Given the description of an element on the screen output the (x, y) to click on. 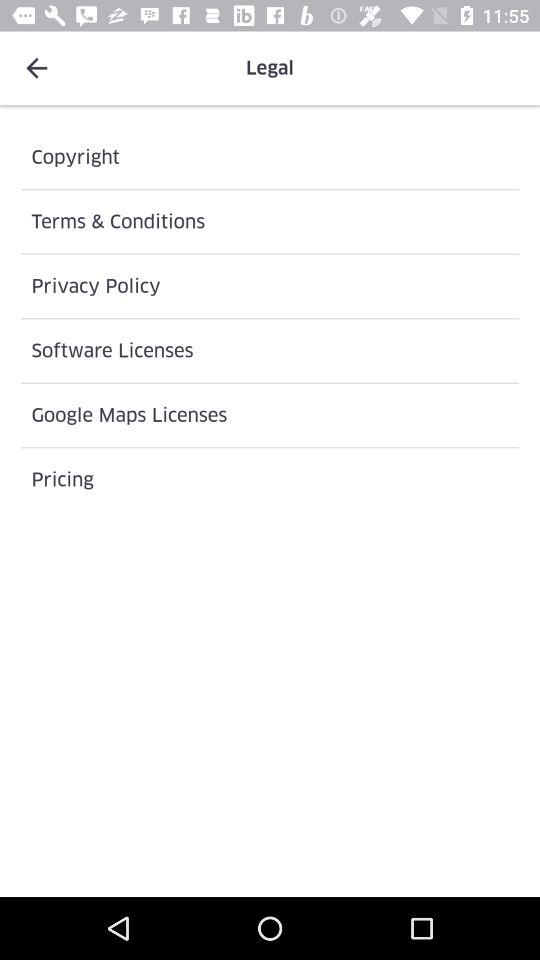
open the icon above the terms & conditions (270, 157)
